Given the description of an element on the screen output the (x, y) to click on. 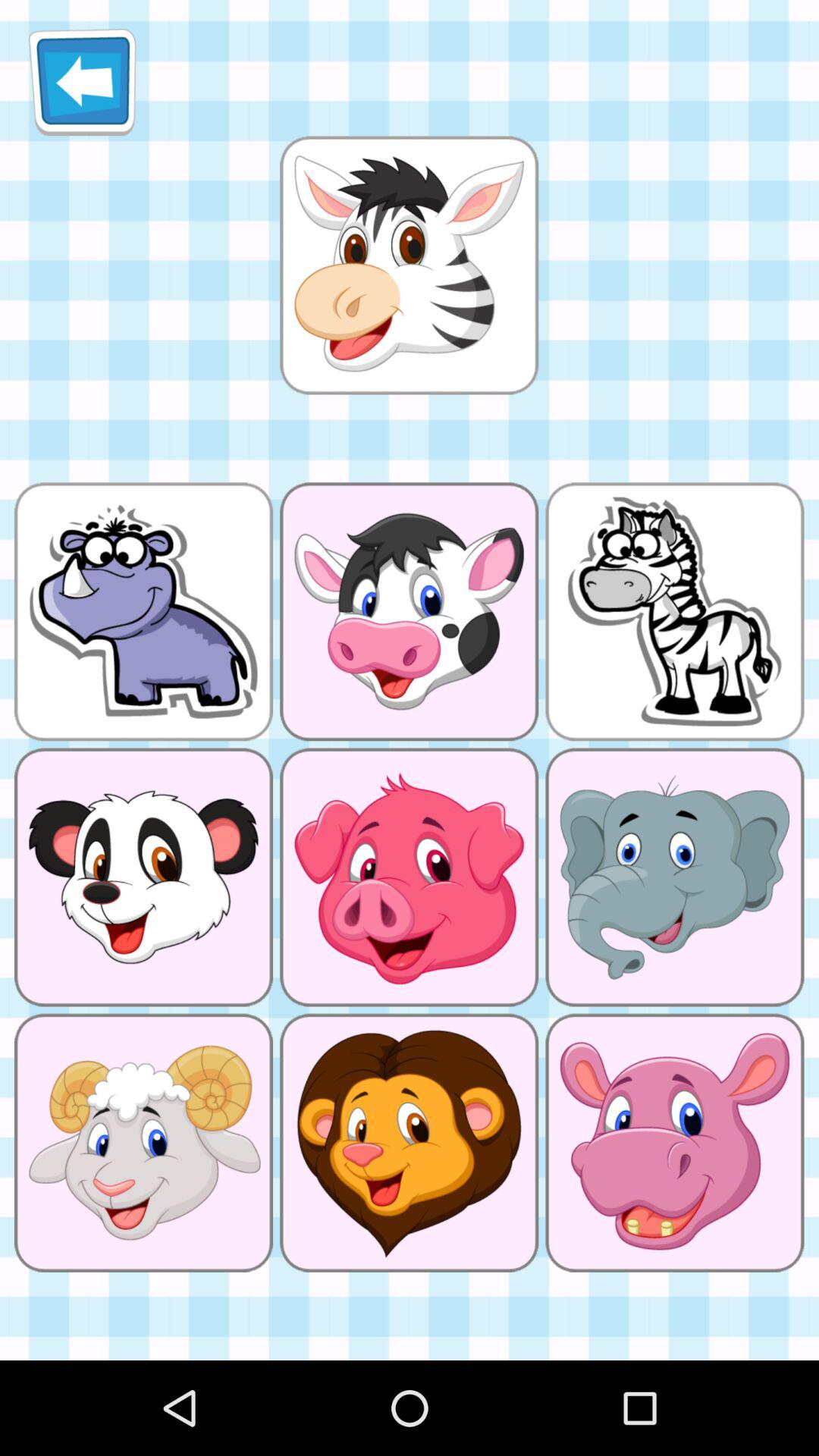
click on the first image (409, 265)
click the back button (81, 82)
select the elephant emoji (674, 877)
click on the left side image of zebra (409, 611)
select the image which is at the left side of the page (143, 611)
select the middle image which is surrounded by other images (409, 877)
select the image lion (409, 1142)
